Given the description of an element on the screen output the (x, y) to click on. 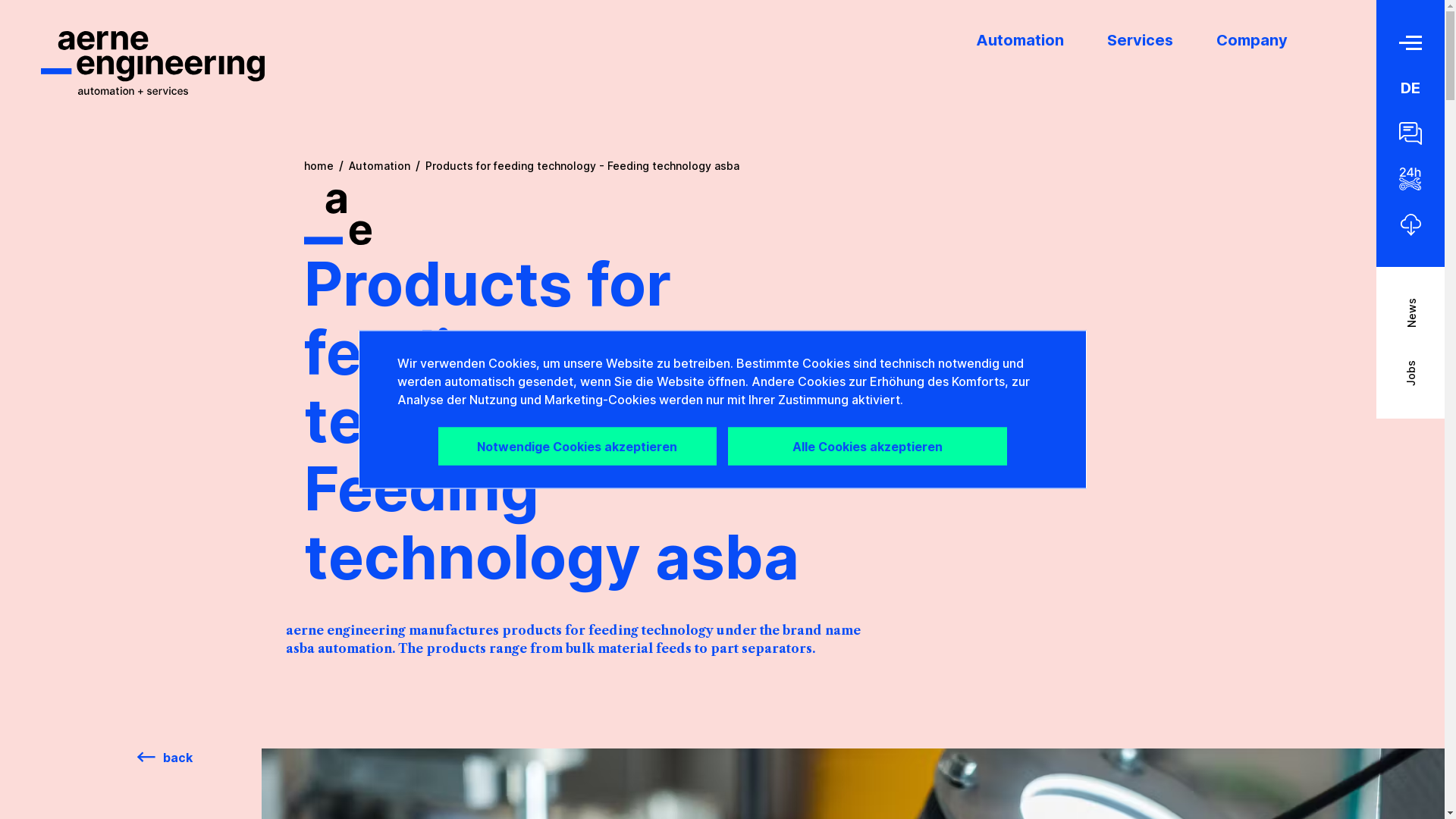
Products for feeding technology - Feeding technology asba Element type: text (581, 165)
News Element type: text (1394, 327)
DE Element type: text (1410, 87)
Automation Element type: text (379, 165)
back Element type: text (164, 757)
Services Element type: text (1140, 40)
home Element type: text (317, 165)
Jobs Element type: text (1392, 390)
Automation Element type: text (1019, 40)
Company Element type: text (1251, 40)
